Given the description of an element on the screen output the (x, y) to click on. 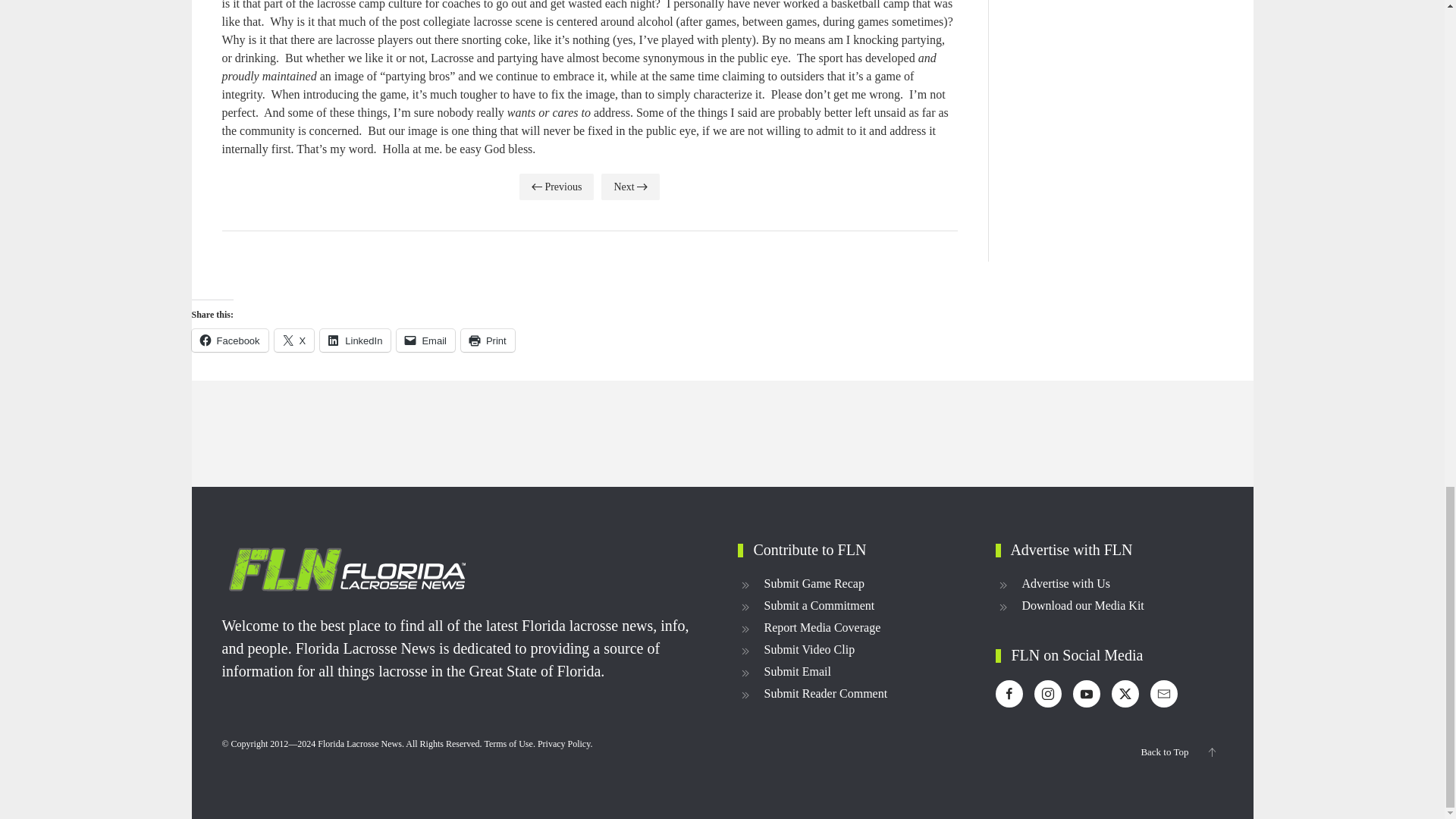
Click to email a link to a friend (425, 340)
Click to share on Facebook (228, 340)
Back To Top (1211, 752)
Click to share on X (294, 340)
Click to print (488, 340)
Click to share on LinkedIn (355, 340)
